Given the description of an element on the screen output the (x, y) to click on. 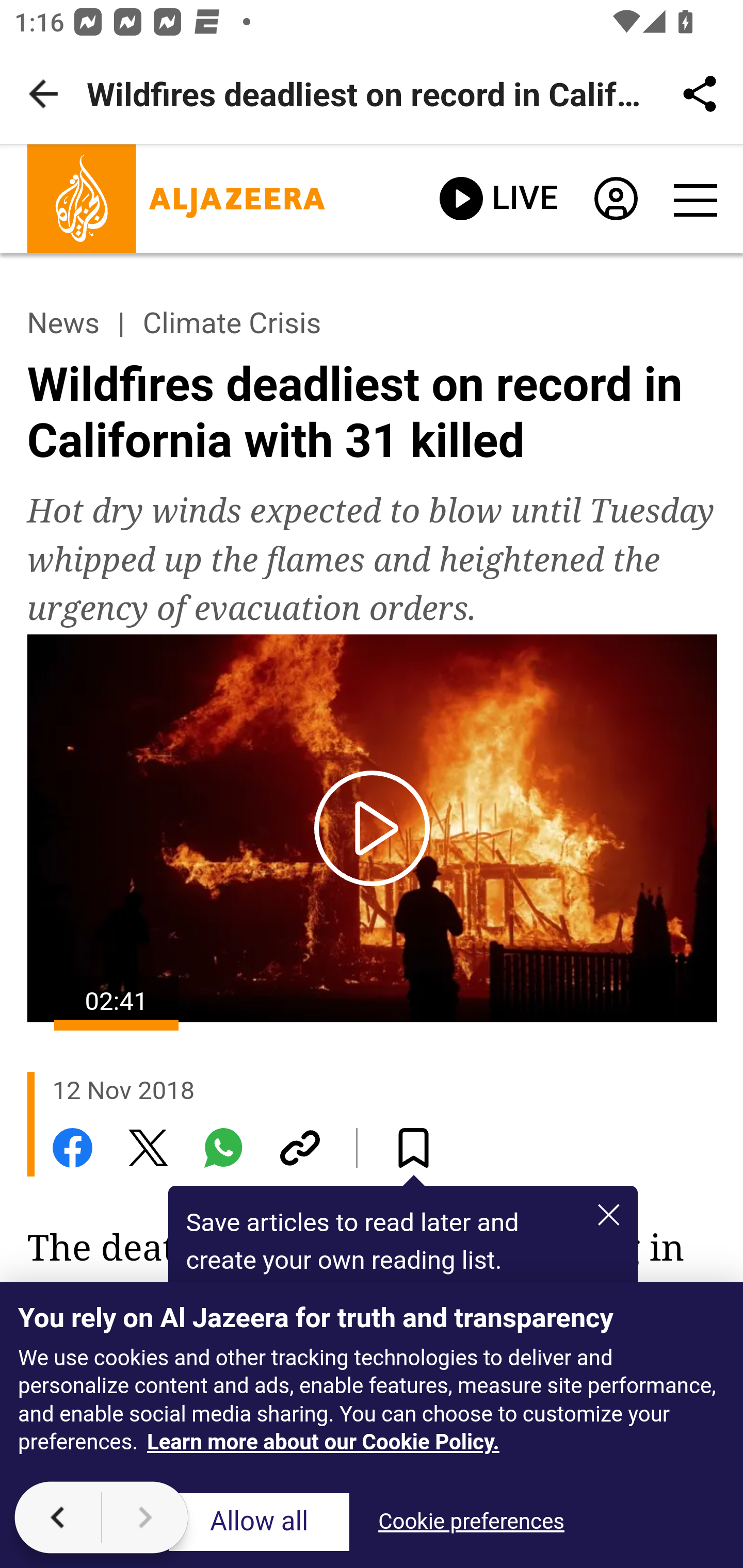
al jazeera, link to home page (176, 199)
link to live stream video player LIVE (498, 199)
Sign in (615, 202)
Show navigation menu (694, 200)
News (63, 322)
Climate Crisis (232, 322)
Click here to play video California fire (371, 828)
Click here to play video (372, 826)
Share on Facebook (71, 1146)
Share on Twitter (147, 1146)
Share on Whatsapp (223, 1146)
Copy link (299, 1146)
Save to Reading list (413, 1146)
Close Tooltip (608, 1213)
Allow all (258, 1522)
Cookie preferences (470, 1522)
